Given the description of an element on the screen output the (x, y) to click on. 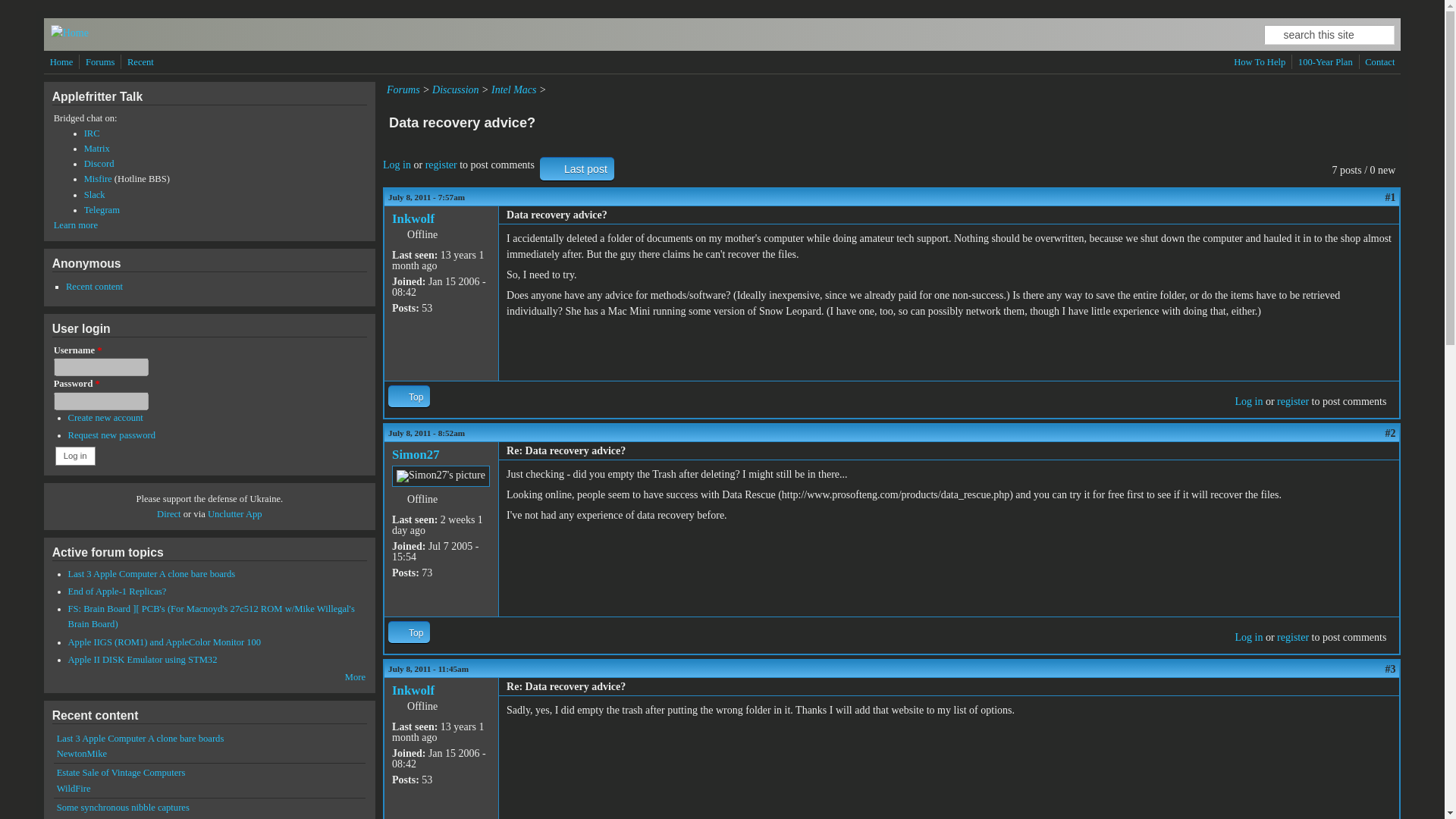
Forums (99, 61)
Log in (75, 455)
Top (408, 631)
Discussion (455, 89)
Forums (403, 89)
Last post (577, 168)
100-Year Plan (1325, 61)
Log in (1248, 636)
Inkwolf (412, 218)
View user profile. (412, 690)
